Given the description of an element on the screen output the (x, y) to click on. 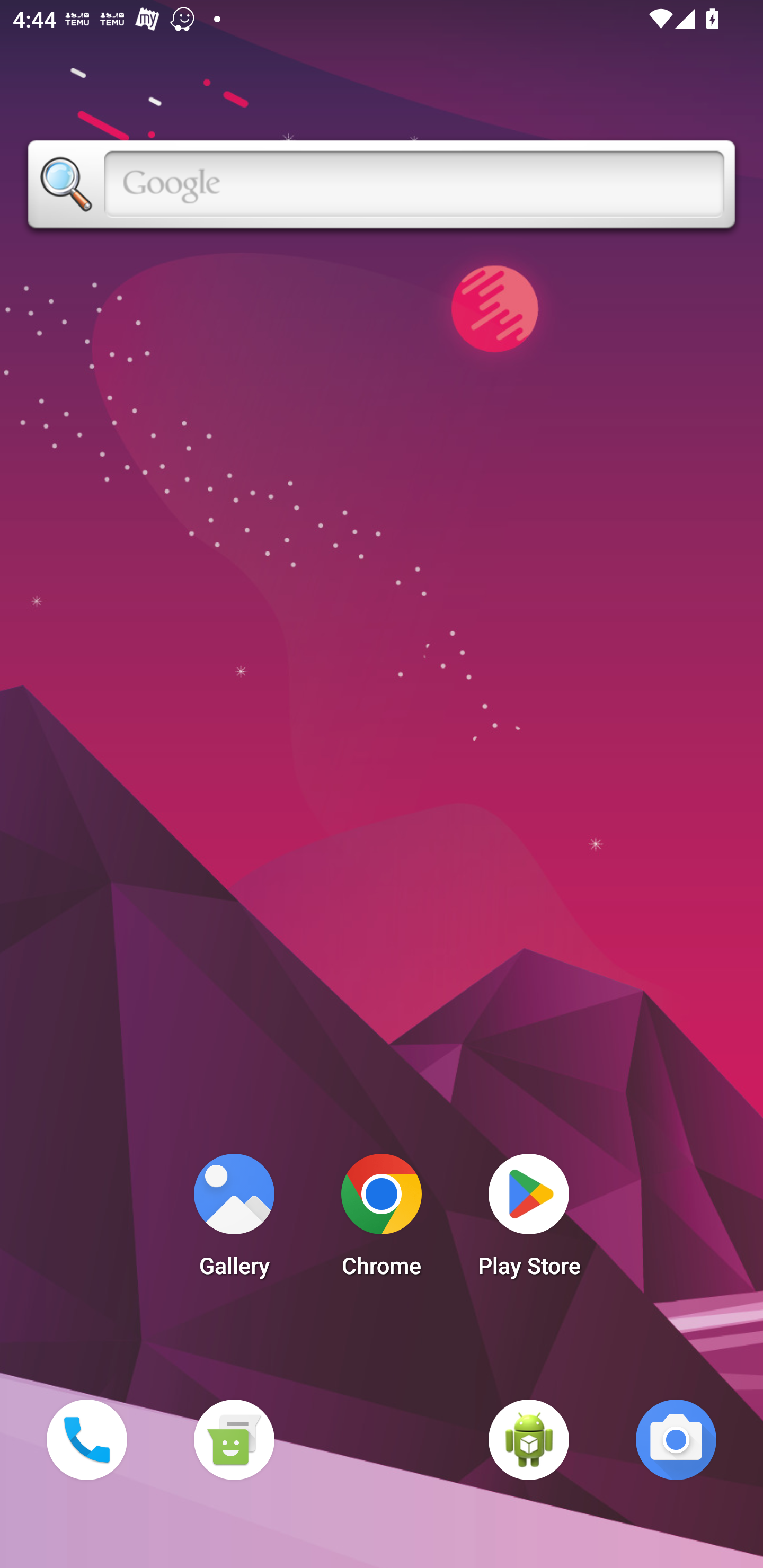
Gallery (233, 1220)
Chrome (381, 1220)
Play Store (528, 1220)
Phone (86, 1439)
Messaging (233, 1439)
WebView Browser Tester (528, 1439)
Camera (676, 1439)
